Given the description of an element on the screen output the (x, y) to click on. 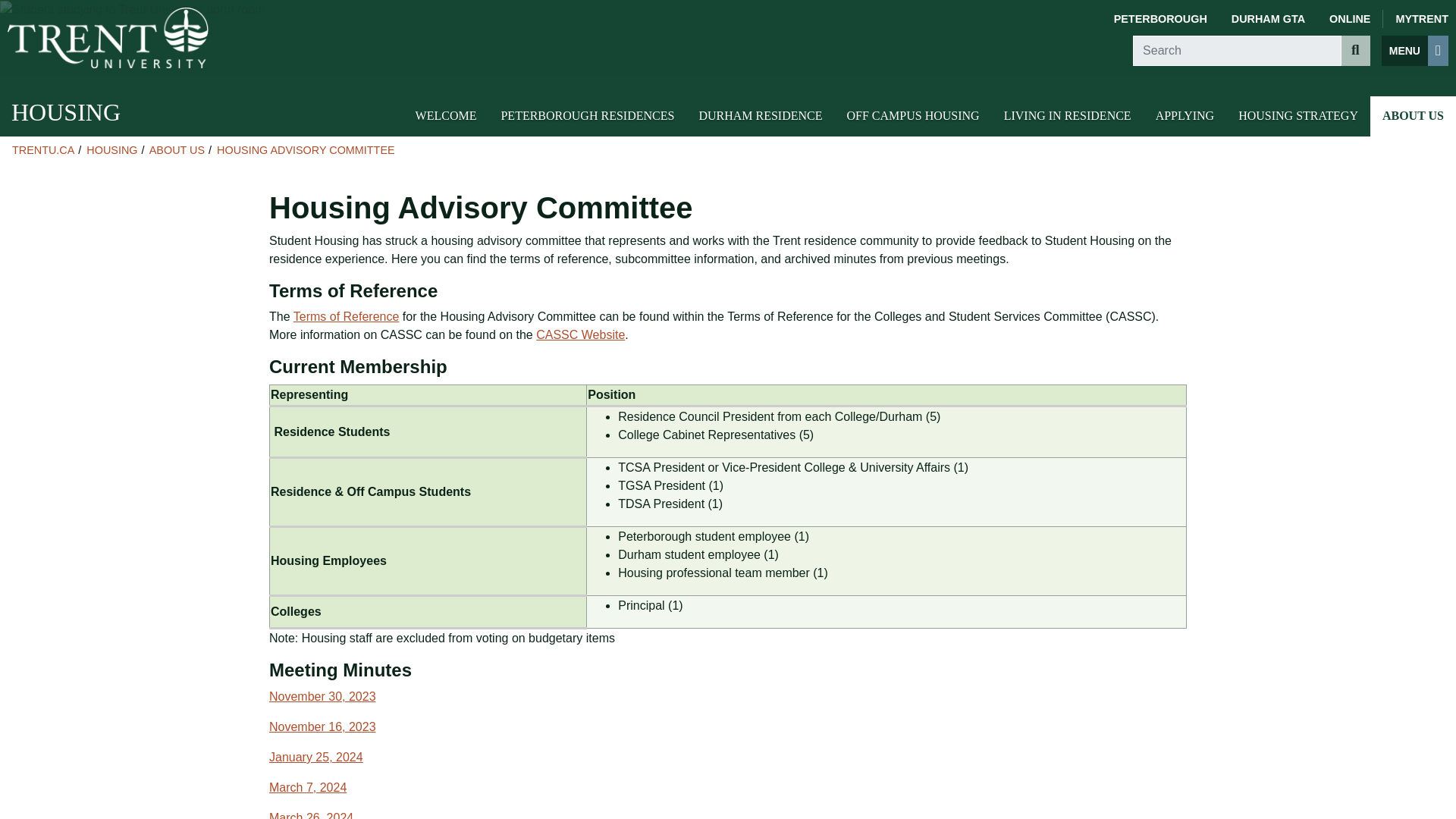
Main Menu (1414, 51)
Home (107, 37)
